Given the description of an element on the screen output the (x, y) to click on. 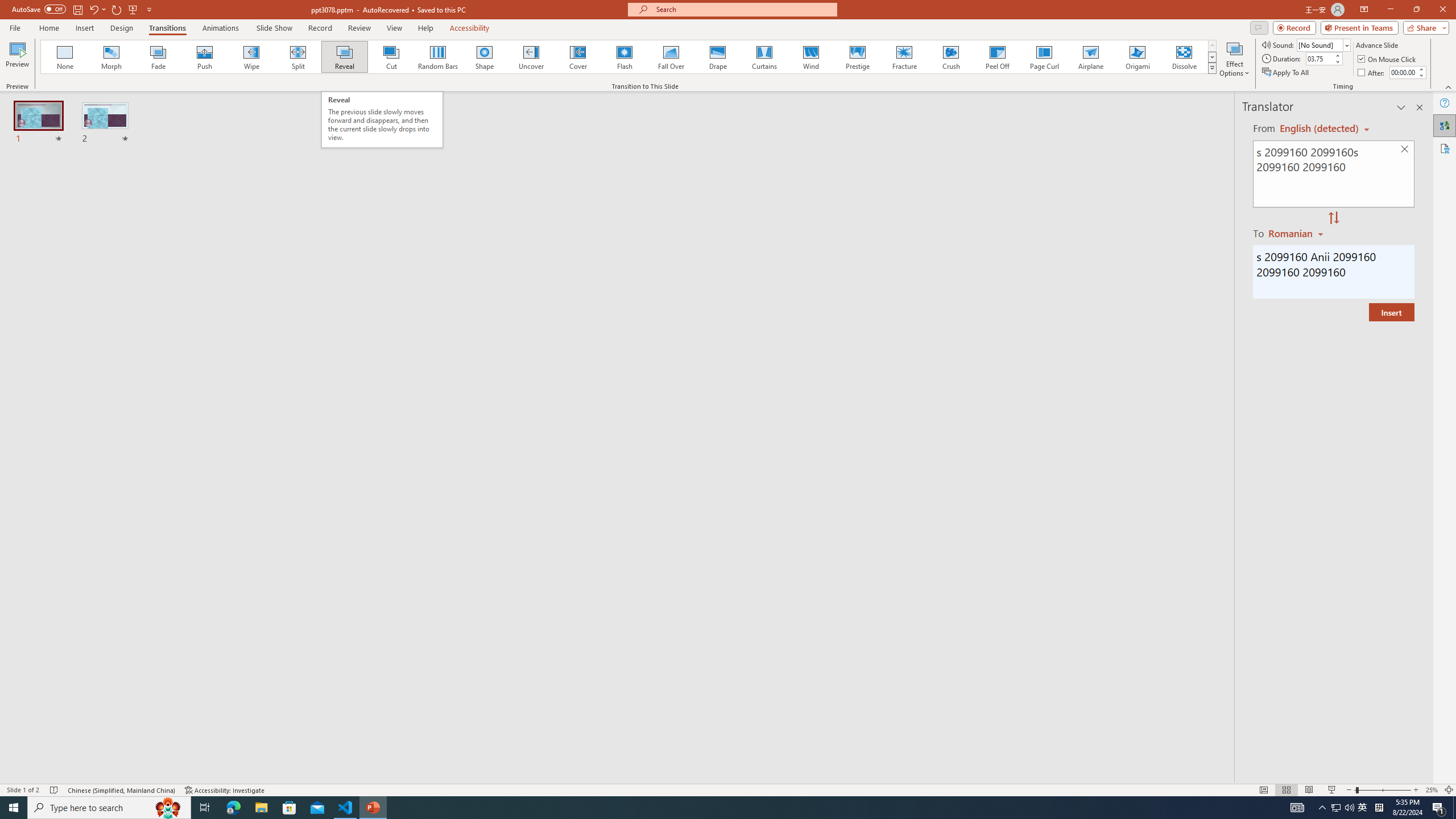
Airplane (1090, 56)
After (1372, 72)
Transition Effects (1212, 67)
Random Bars (437, 56)
Flash (624, 56)
